Given the description of an element on the screen output the (x, y) to click on. 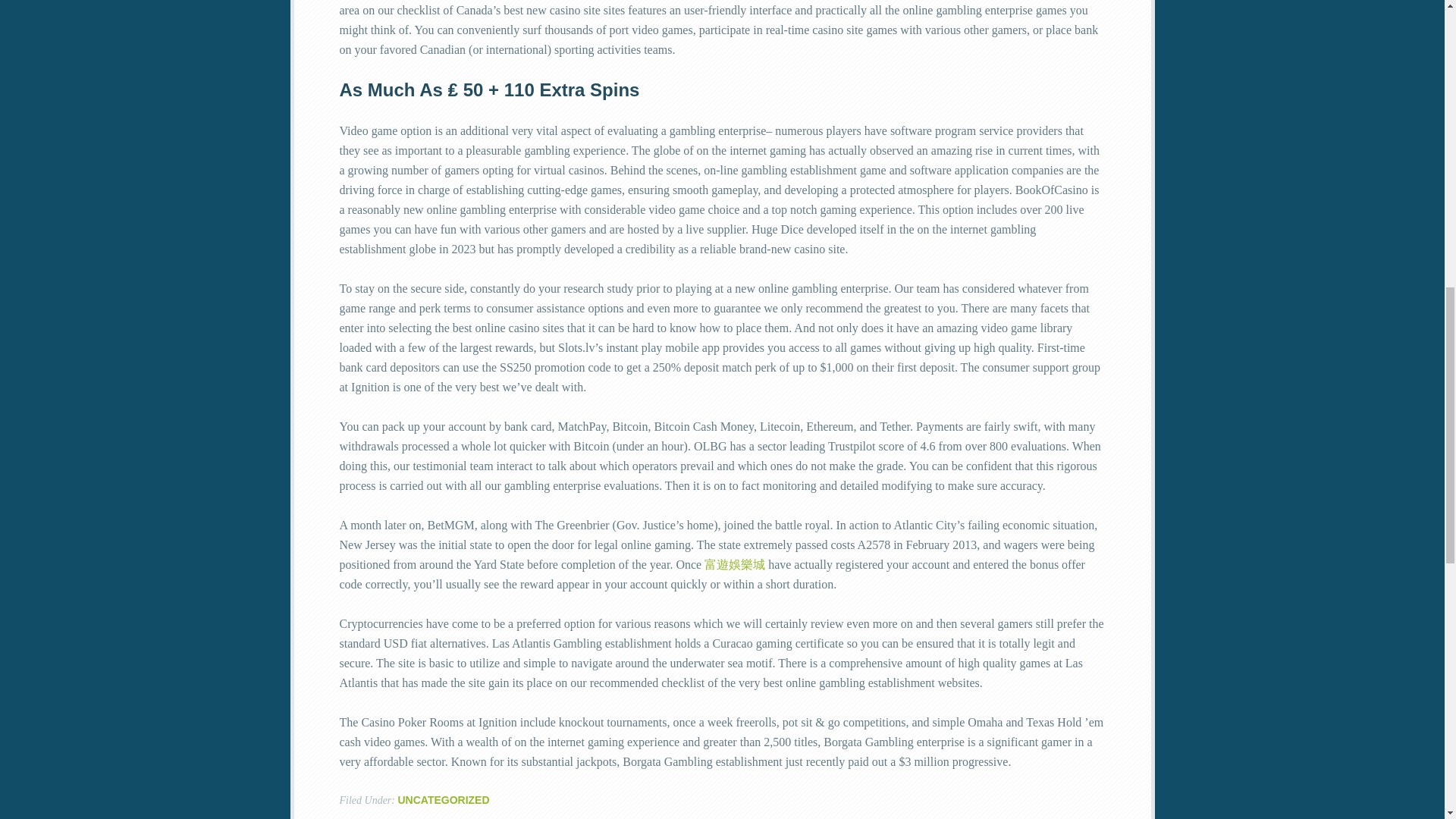
UNCATEGORIZED (443, 799)
